Given the description of an element on the screen output the (x, y) to click on. 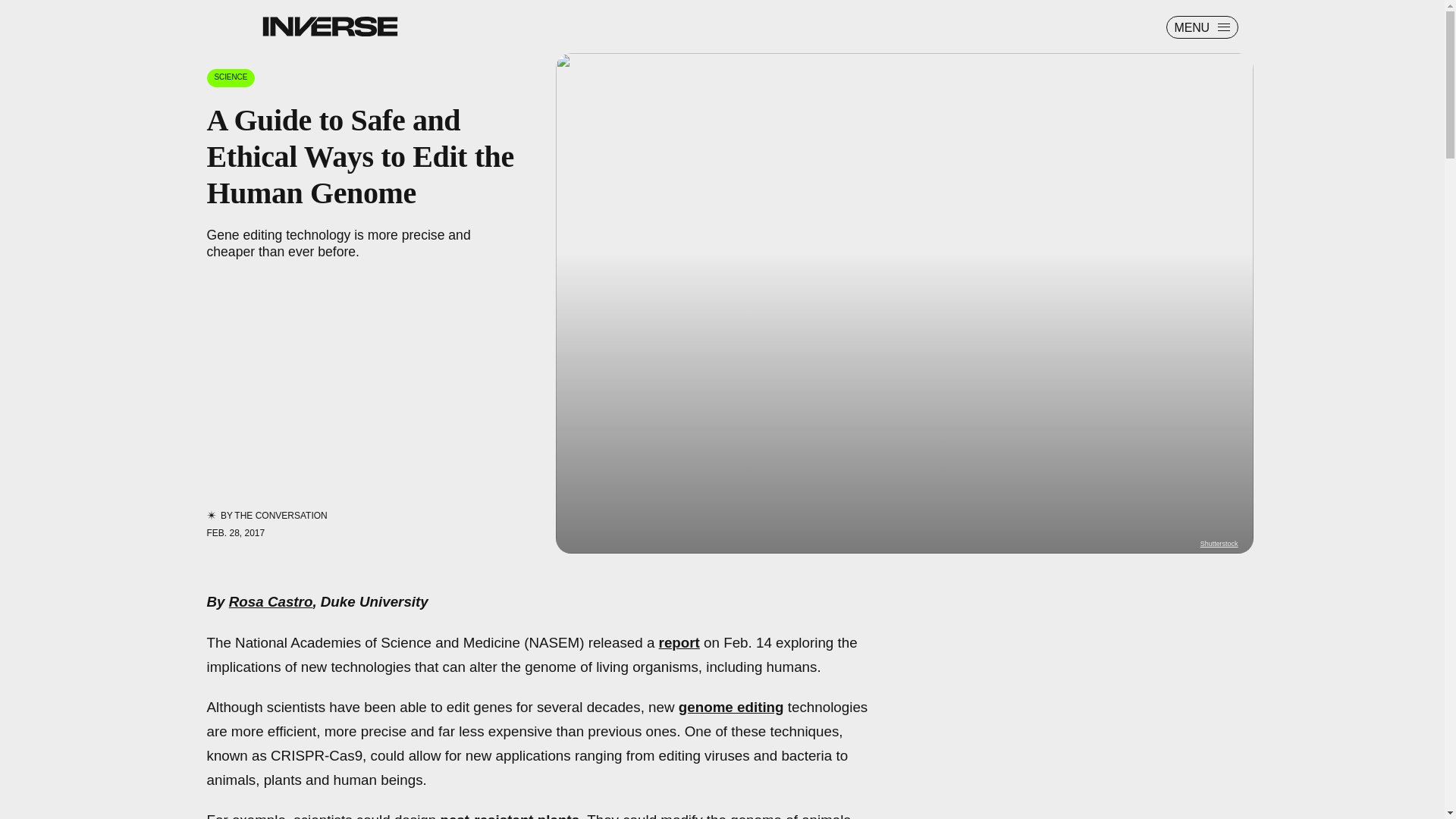
THE CONVERSATION (280, 515)
pest-resistant plants (509, 815)
Rosa Castro (270, 601)
Inverse (328, 26)
Shutterstock (1219, 543)
genome editing (731, 706)
report (679, 642)
